Given the description of an element on the screen output the (x, y) to click on. 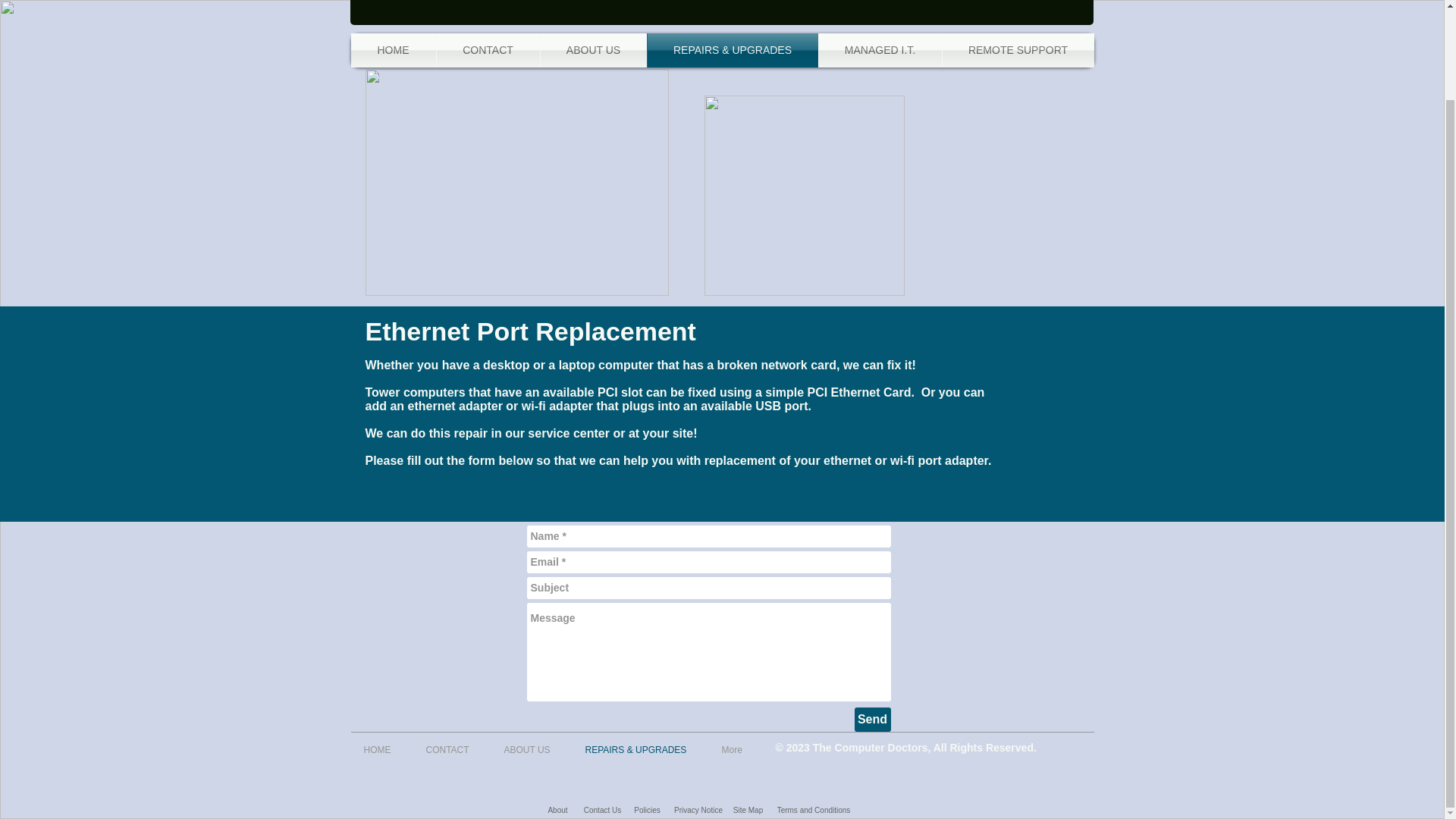
HOME (382, 747)
MANAGED I.T. (880, 50)
REMOTE SUPPORT (1017, 50)
Send (871, 719)
ABOUT US (593, 50)
CONTACT (488, 50)
ABOUT US (533, 747)
HOME (392, 50)
CONTACT (452, 747)
